Given the description of an element on the screen output the (x, y) to click on. 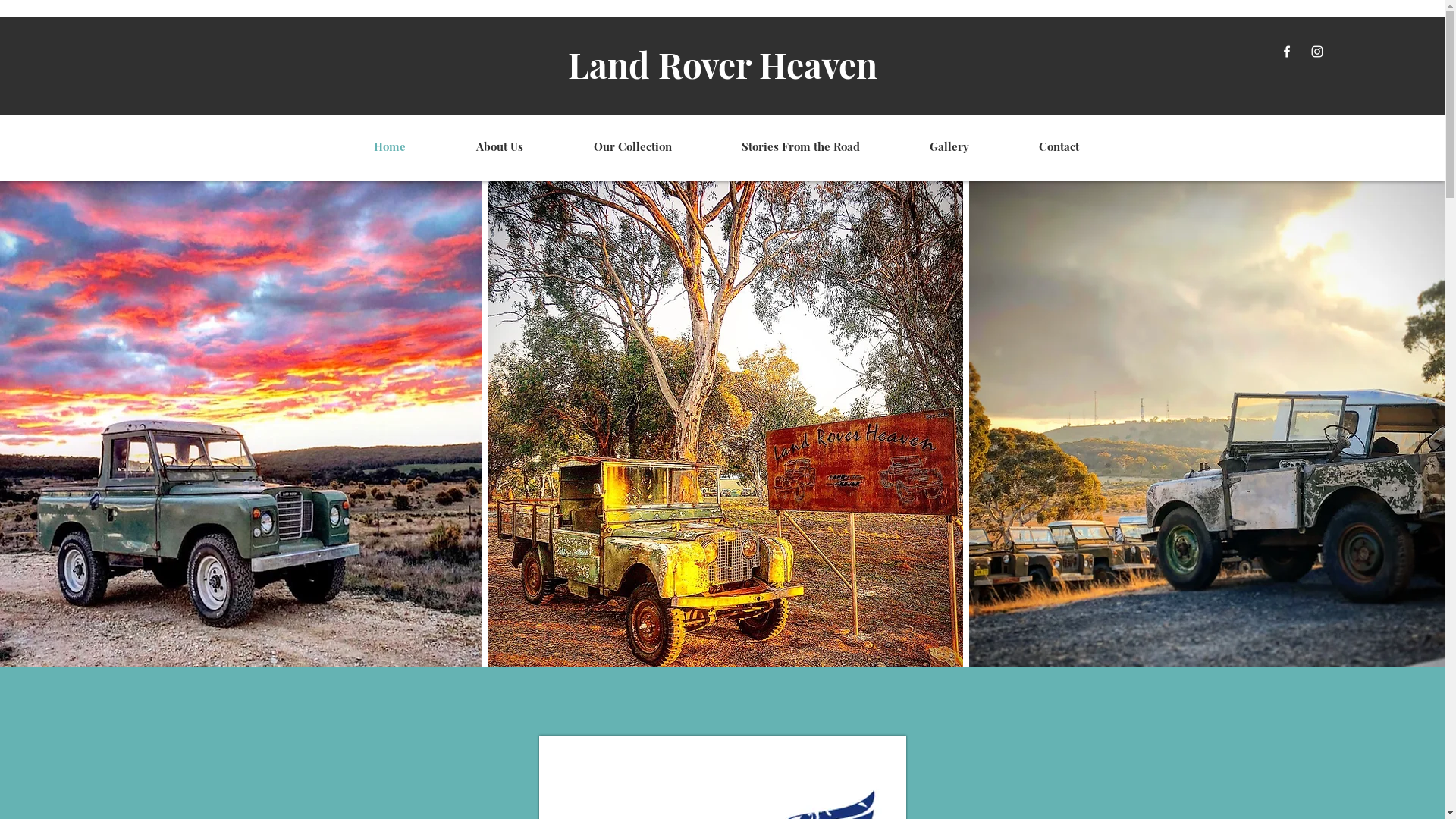
Contact Element type: text (1034, 146)
About Us Element type: text (475, 146)
Home Element type: text (364, 146)
Gallery Element type: text (924, 146)
Land Rover Heaven Element type: text (722, 63)
Stories From the Road Element type: text (776, 146)
Our Collection Element type: text (607, 146)
